Given the description of an element on the screen output the (x, y) to click on. 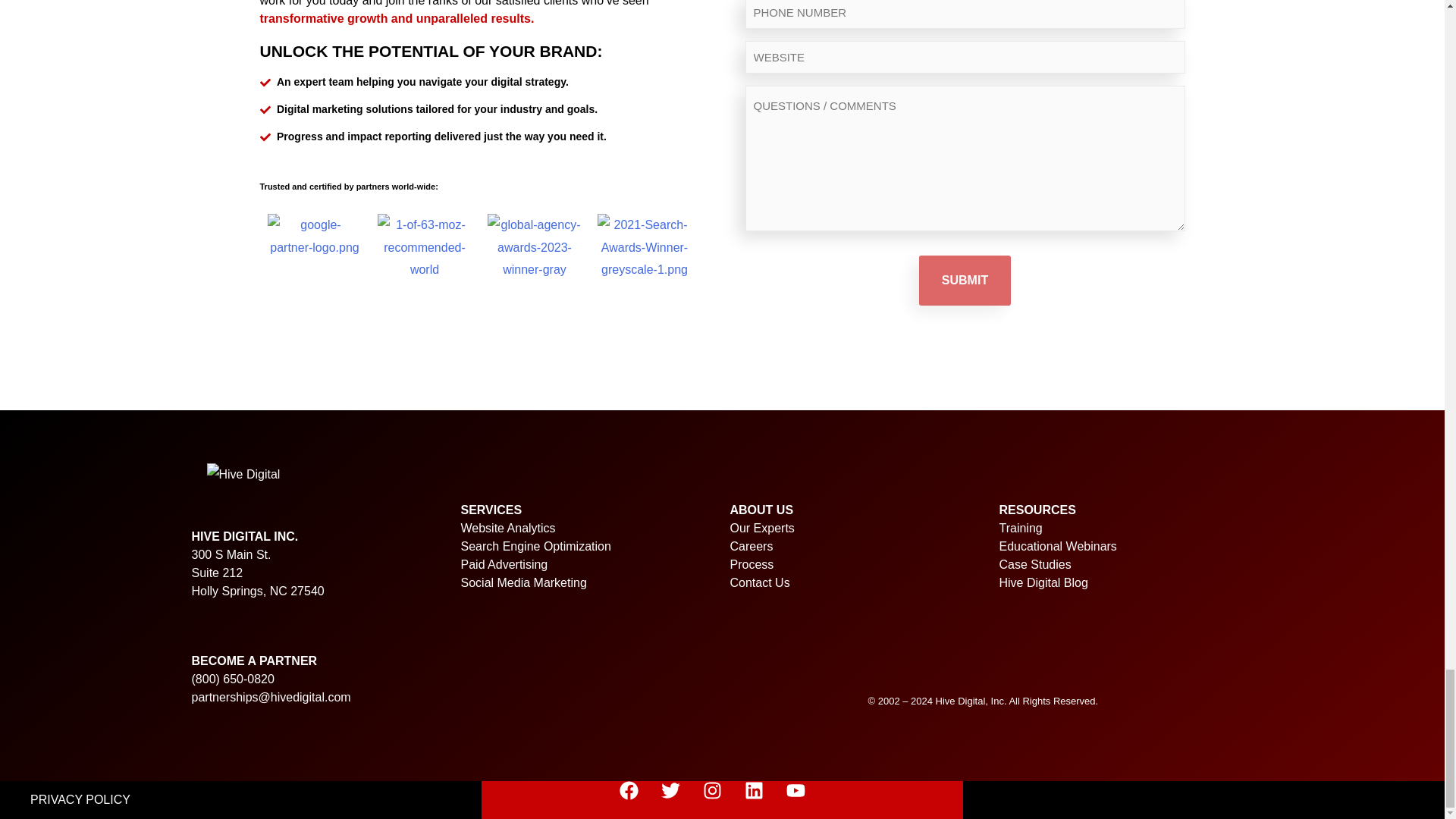
2021-Search-Awards-Winner-greyscale-1.png (644, 247)
Submit (964, 280)
google-partner-logo.png (313, 235)
global-agency-awards-2023-winner-gray (533, 247)
1-of-63-moz-recommended-world (424, 247)
